Given the description of an element on the screen output the (x, y) to click on. 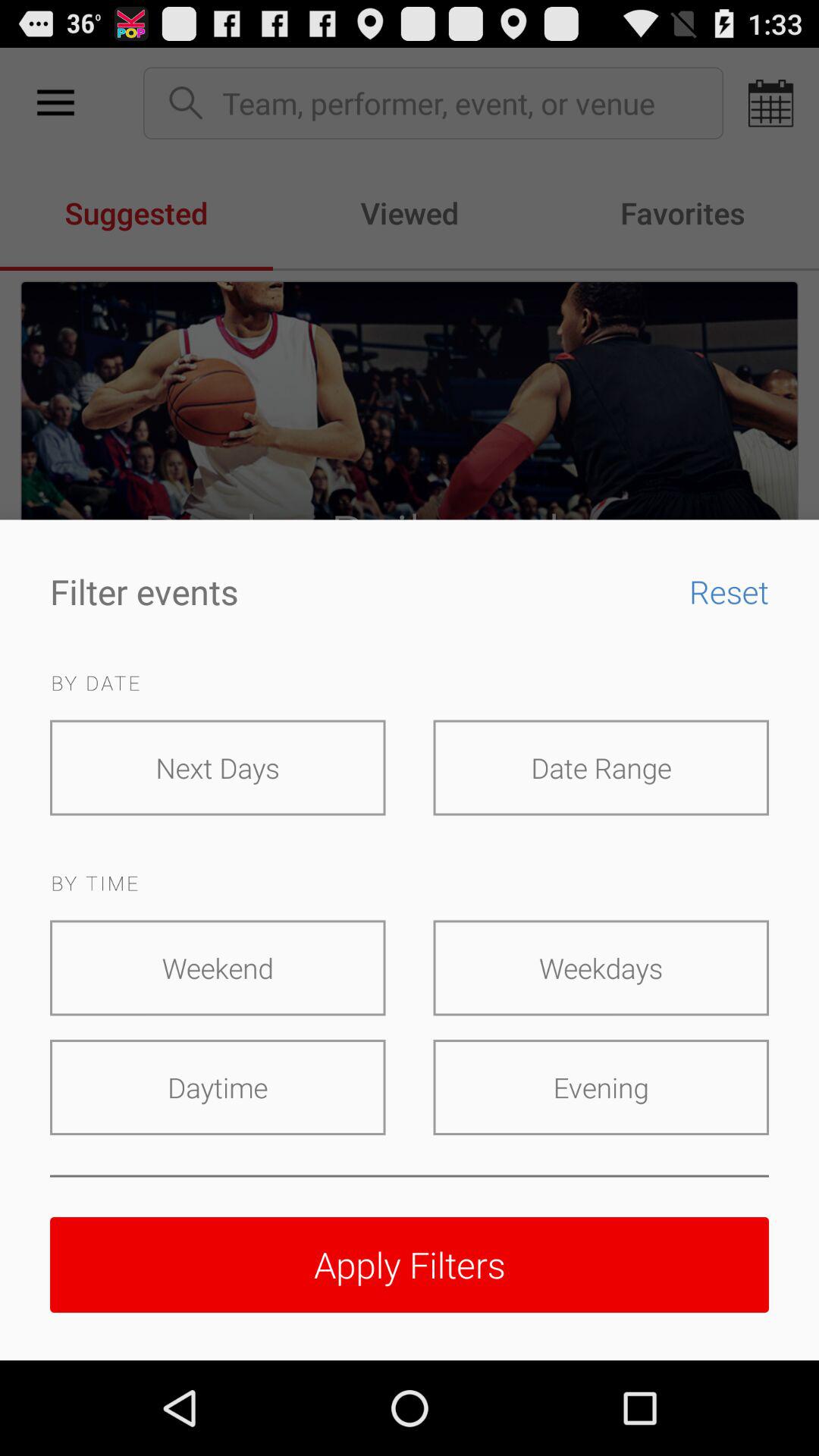
select the item at the bottom right corner (600, 1087)
